Given the description of an element on the screen output the (x, y) to click on. 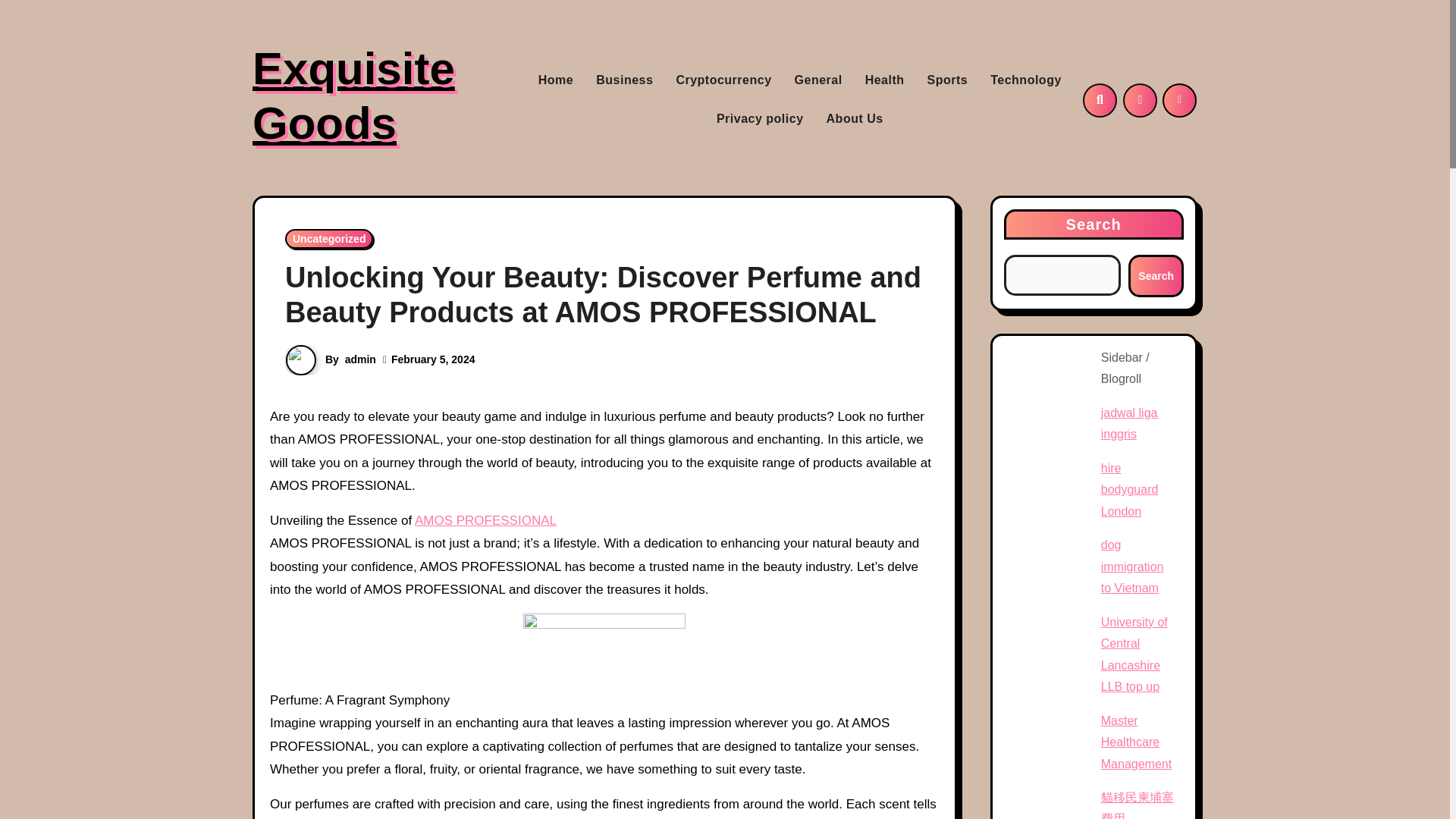
Business (624, 80)
Home (556, 80)
Privacy policy (759, 118)
Business (624, 80)
About Us (855, 118)
February 5, 2024 (433, 358)
Technology (1025, 80)
General (818, 80)
General (818, 80)
About Us (855, 118)
Technology (1025, 80)
Uncategorized (328, 238)
admin (360, 358)
Exquisite Goods (352, 95)
AMOS PROFESSIONAL (485, 520)
